Given the description of an element on the screen output the (x, y) to click on. 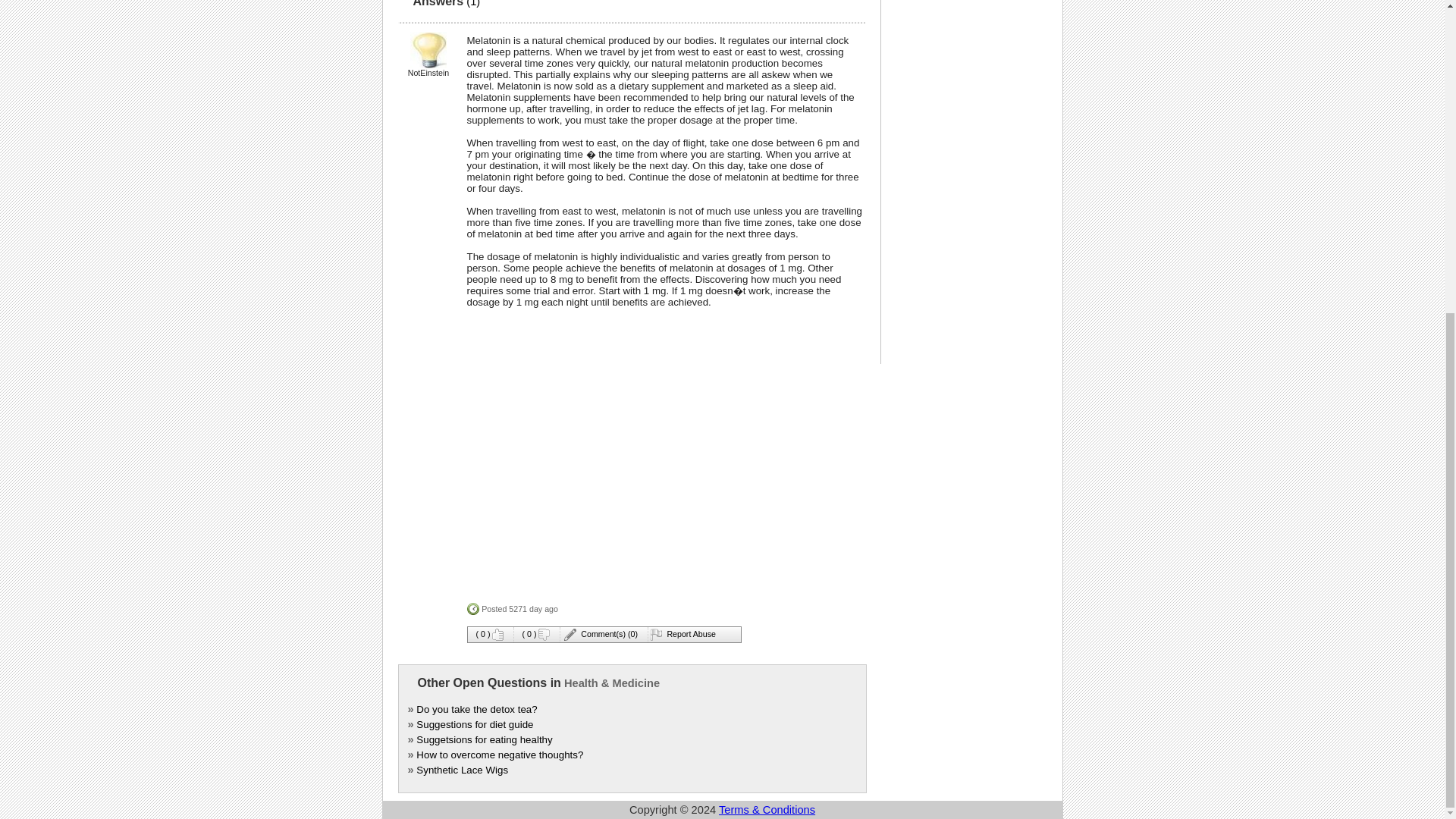
Do you take the detox tea? (476, 708)
How to overcome negative thoughts? (499, 754)
Synthetic Lace Wigs (462, 769)
Suggetsions for eating healthy (483, 739)
Suggestions for diet guide (474, 724)
